Given the description of an element on the screen output the (x, y) to click on. 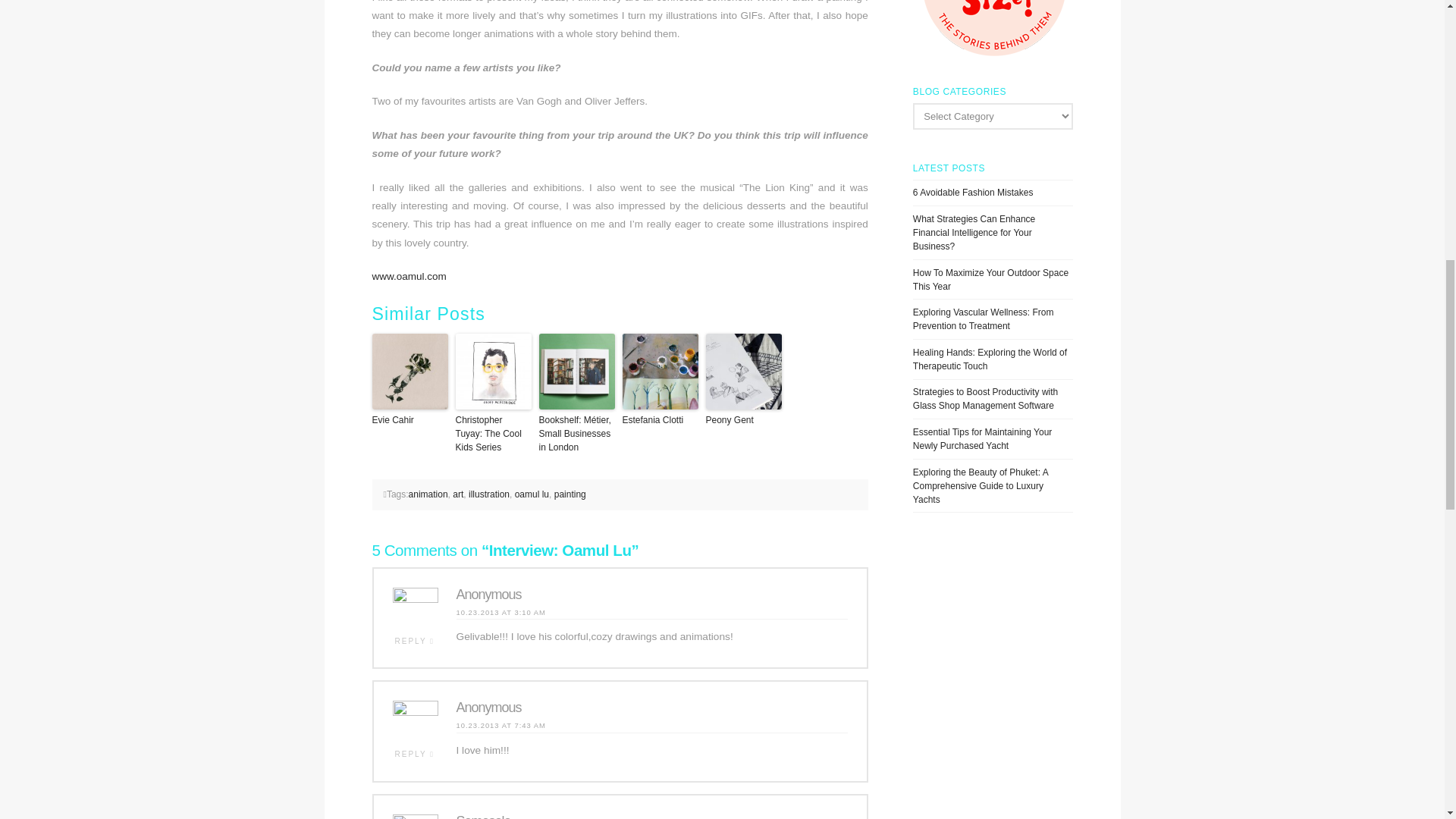
Christopher Tuyay: The Cool Kids Series (492, 433)
oamul lu (531, 493)
Peony Gent (742, 419)
art (457, 493)
illustration (488, 493)
Evie Cahir (408, 419)
painting (570, 493)
animation (428, 493)
www.oamul.com (408, 276)
Estefania Clotti (659, 419)
